Given the description of an element on the screen output the (x, y) to click on. 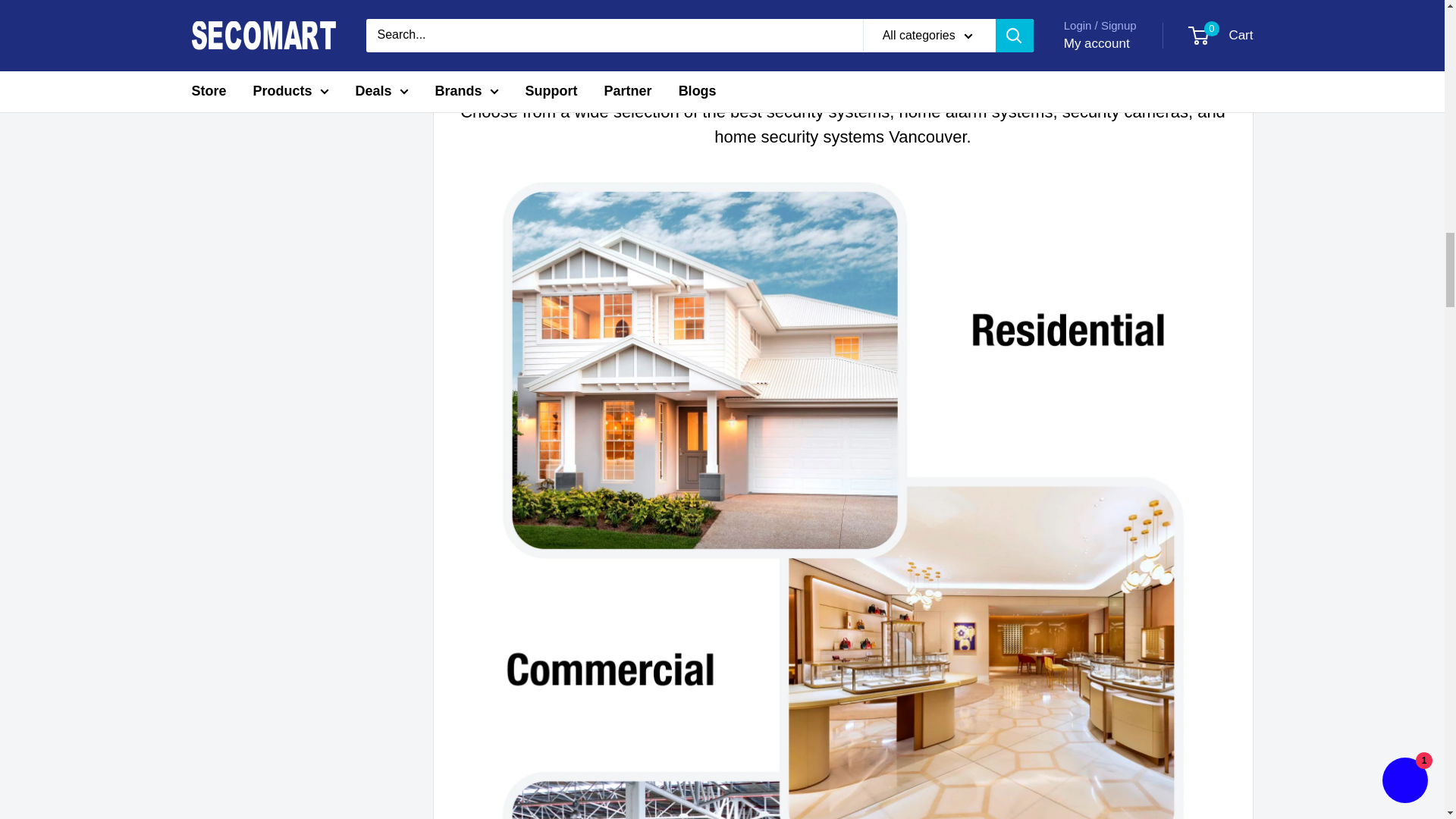
Security Systems Vancouvers and Home Alarm Systems Vancouver (843, 173)
